Given the description of an element on the screen output the (x, y) to click on. 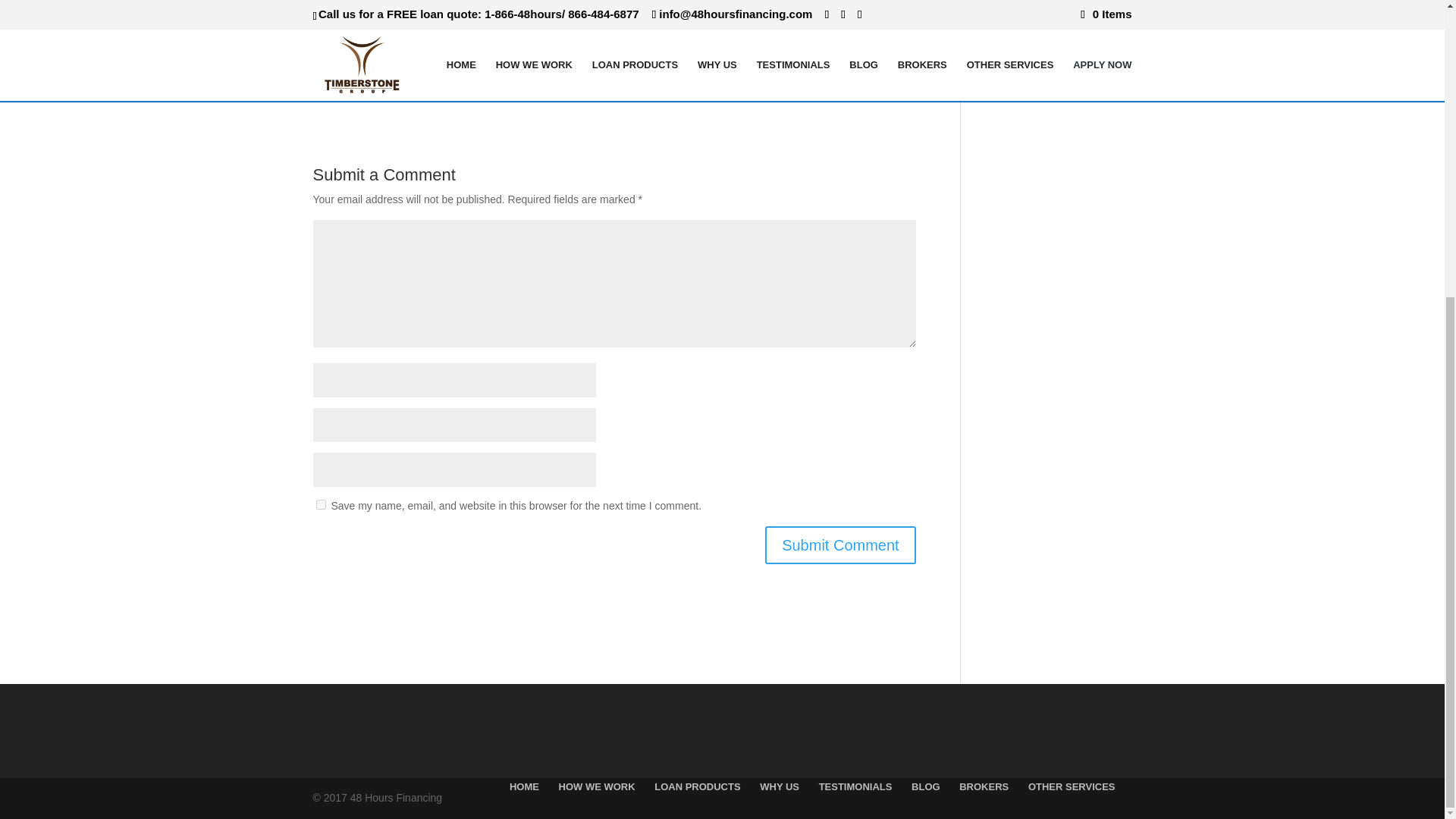
HOME (523, 786)
TESTIMONIALS (855, 786)
LOAN PRODUCTS (696, 786)
Submit Comment (840, 545)
Submit Comment (840, 545)
BLOG (925, 786)
WHY US (779, 786)
HOW WE WORK (596, 786)
BROKERS (984, 786)
yes (319, 504)
